Given the description of an element on the screen output the (x, y) to click on. 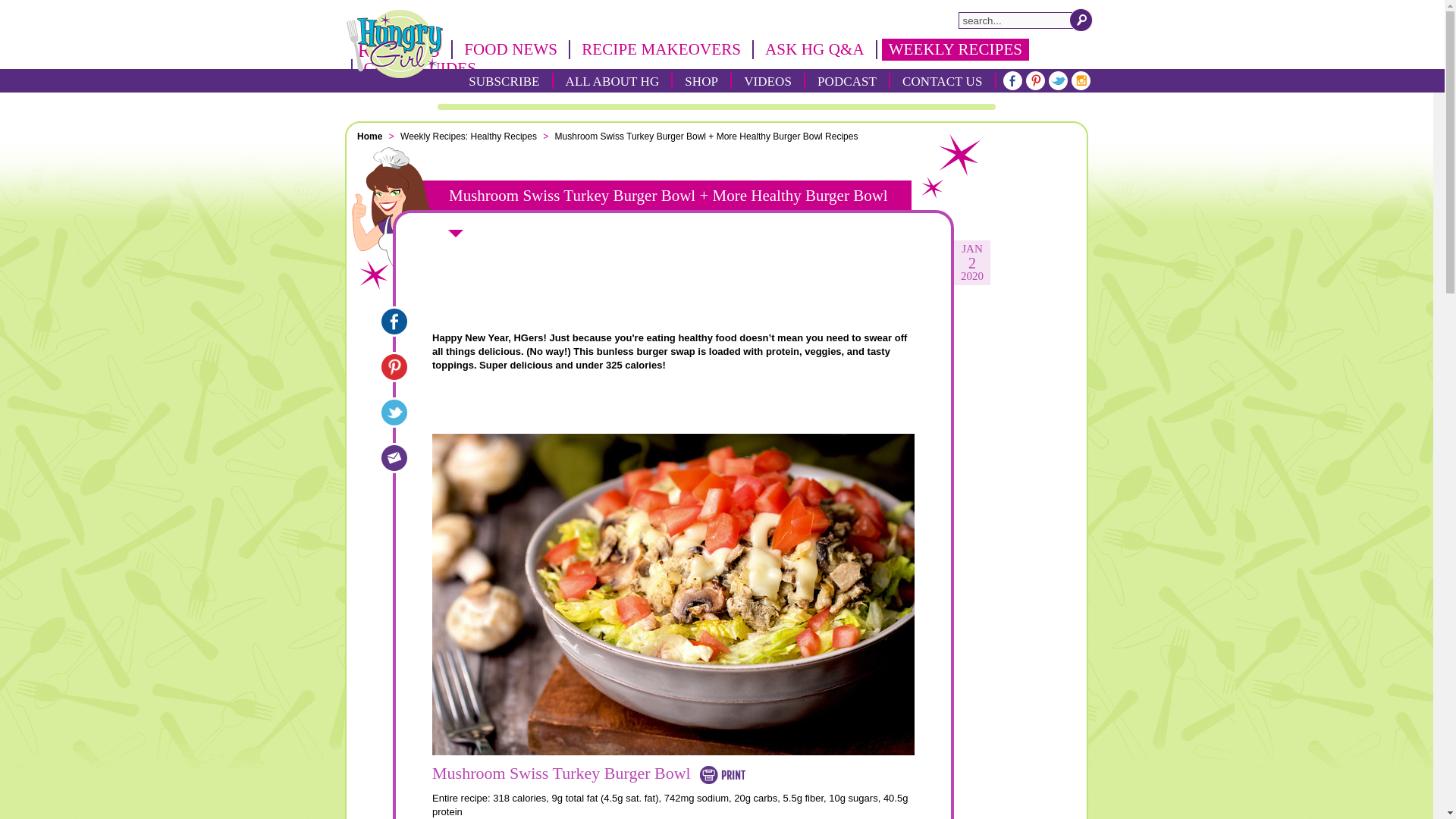
VIDEOS (767, 80)
RECIPE MAKEOVERS (661, 49)
WEEKLY RECIPES (955, 49)
SHOP (701, 80)
SUBSCRIBE (503, 80)
ALL ABOUT HG (612, 80)
FOOD NEWS (510, 49)
PODCAST (847, 80)
RECIPES (398, 49)
GO-TO GUIDES (418, 68)
